Given the description of an element on the screen output the (x, y) to click on. 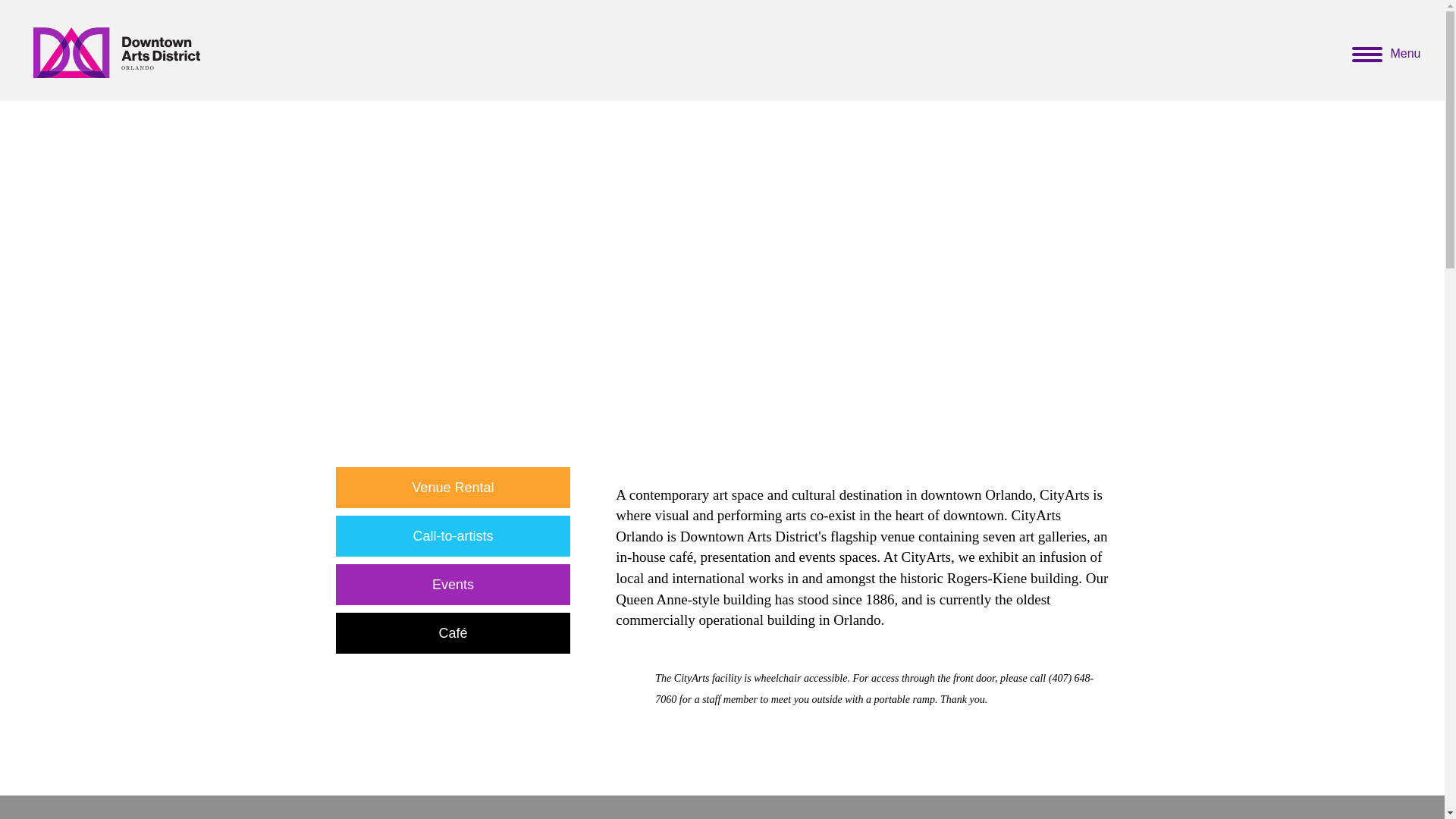
Venue Rental (452, 486)
CA Logo (452, 350)
Call-to-artists (452, 535)
Events (452, 584)
dadlogo (116, 49)
Menu (1385, 54)
